Given the description of an element on the screen output the (x, y) to click on. 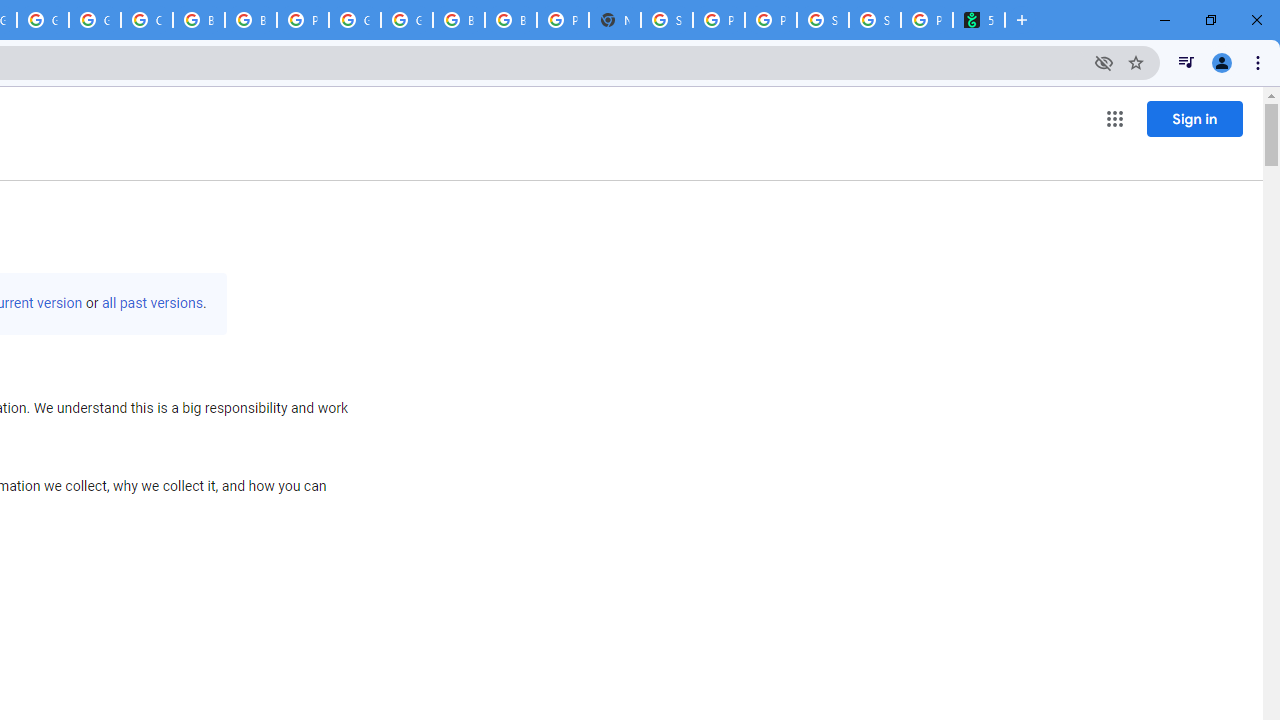
all past versions (152, 303)
Google Cloud Platform (355, 20)
New Tab (614, 20)
Google Cloud Platform (42, 20)
